Given the description of an element on the screen output the (x, y) to click on. 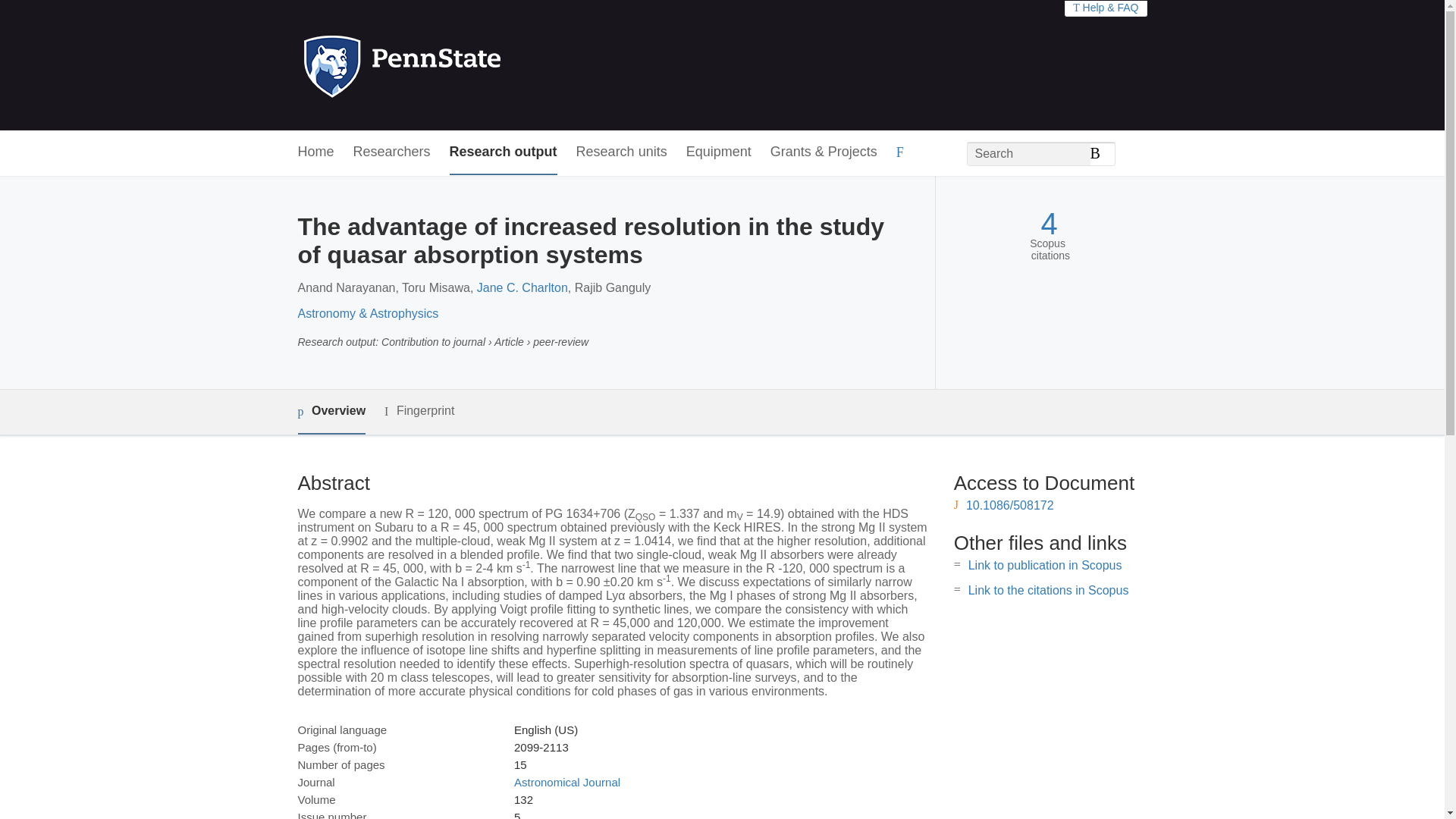
Astronomical Journal (566, 781)
Fingerprint (419, 411)
Overview (331, 411)
Jane C. Charlton (522, 287)
Penn State Home (467, 65)
Link to the citations in Scopus (1048, 590)
Research units (621, 152)
Research output (503, 152)
Equipment (718, 152)
Link to publication in Scopus (1045, 564)
Researchers (391, 152)
